Given the description of an element on the screen output the (x, y) to click on. 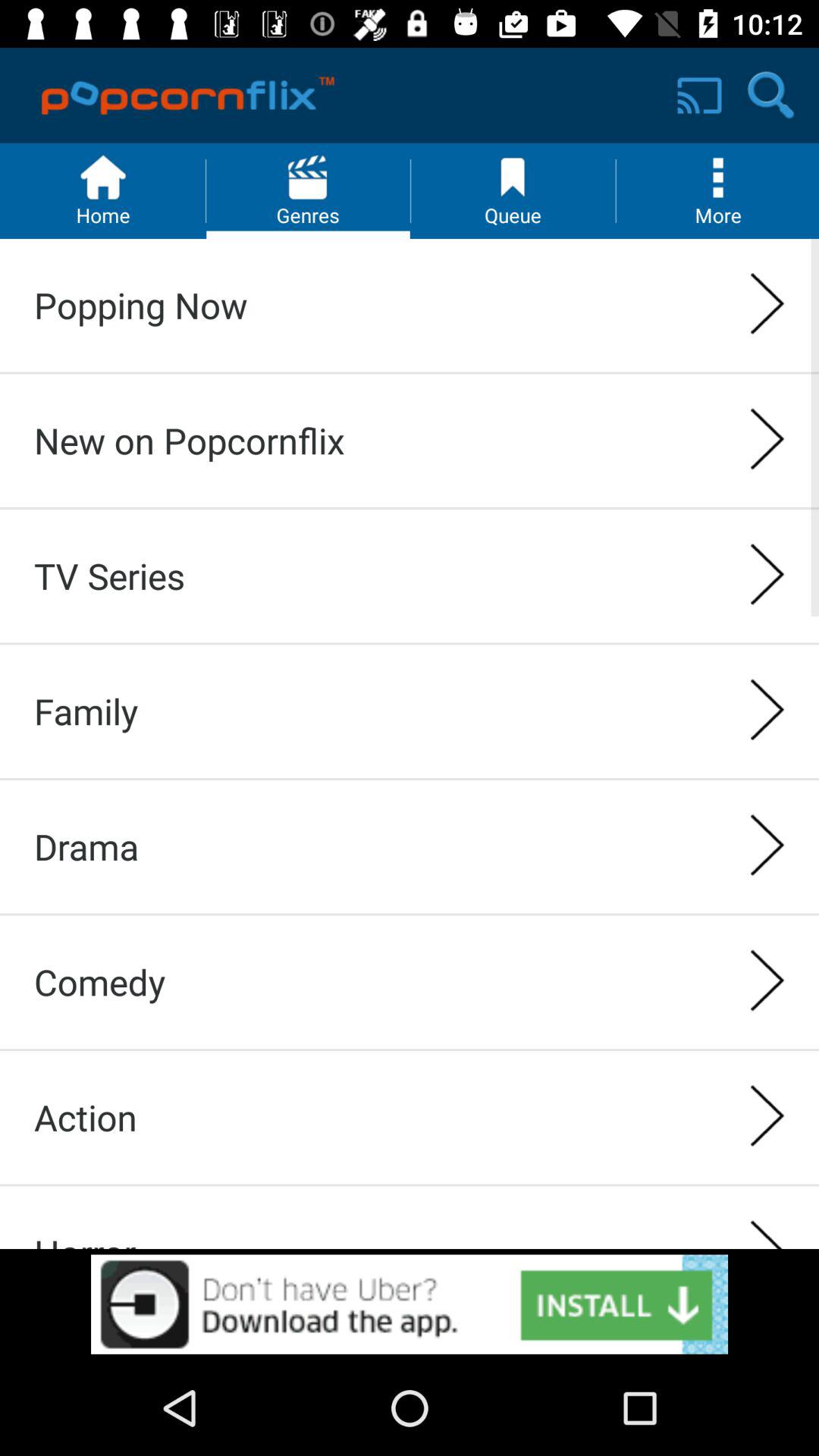
new advertisement open box (409, 1304)
